Given the description of an element on the screen output the (x, y) to click on. 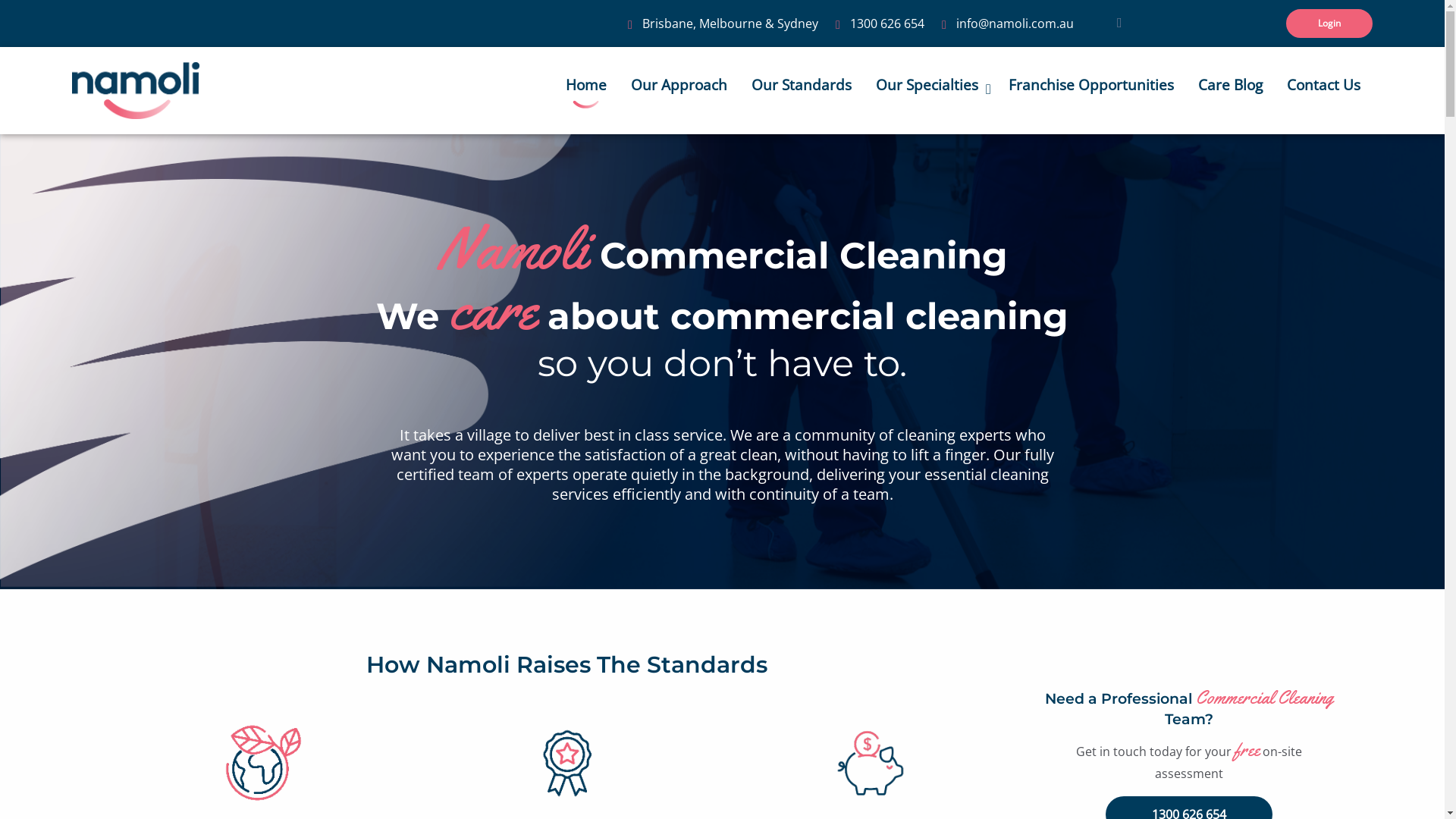
Login Element type: text (1329, 23)
Our Specialties Element type: text (929, 90)
1300 626 654 Element type: text (887, 23)
Contact Us Element type: text (1323, 84)
Our Standards Element type: text (801, 84)
info@namoli.com.au Element type: text (1014, 23)
Our Approach Element type: text (678, 84)
Care Blog Element type: text (1230, 84)
Franchise Opportunities Element type: text (1091, 84)
Home Element type: text (585, 82)
